Given the description of an element on the screen output the (x, y) to click on. 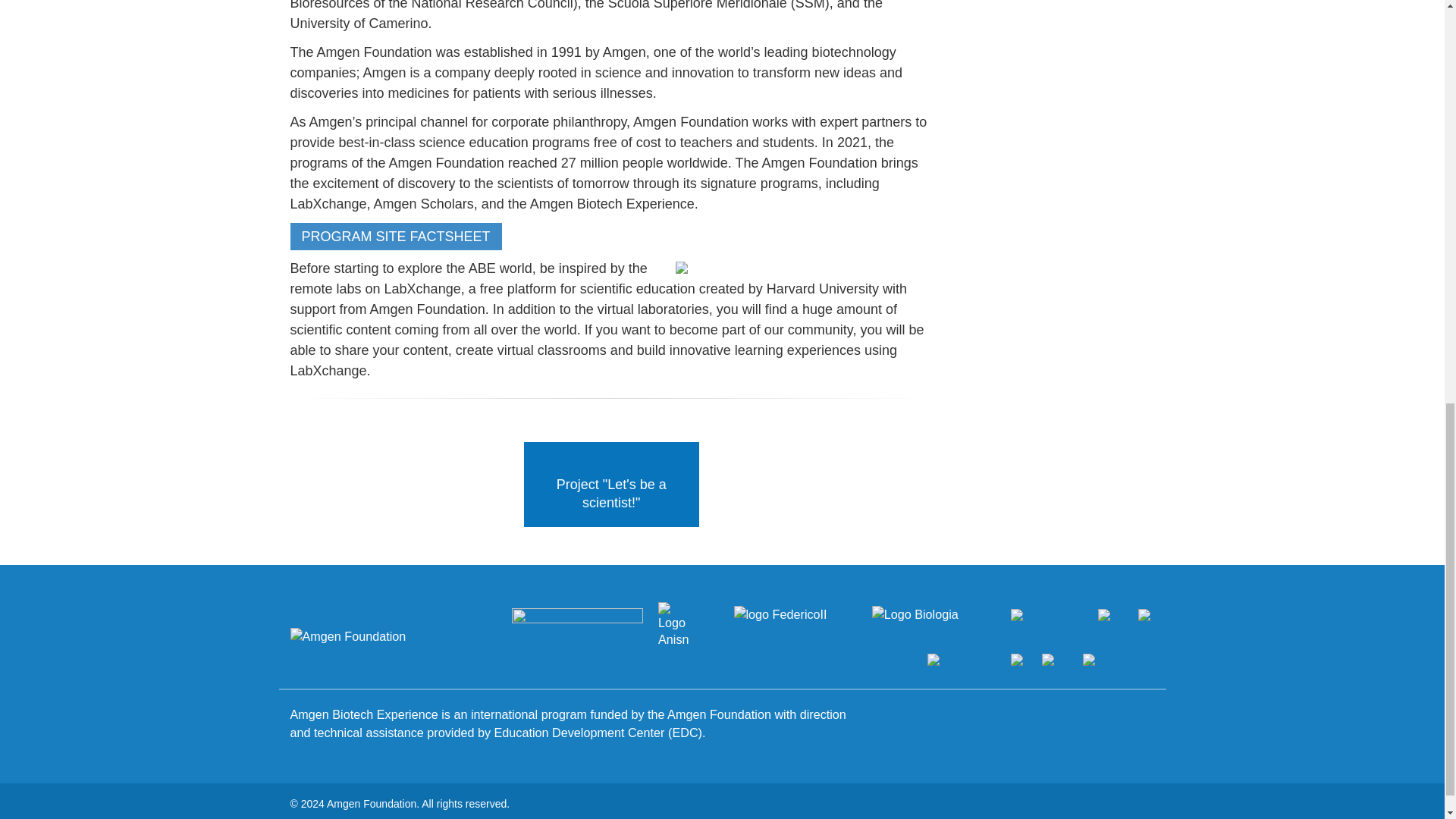
Amgen Foundation (389, 635)
PROGRAM SITE FACTSHEET (394, 236)
Amgen Foundation (347, 636)
Project "Let's be a scientist!" (611, 484)
